Given the description of an element on the screen output the (x, y) to click on. 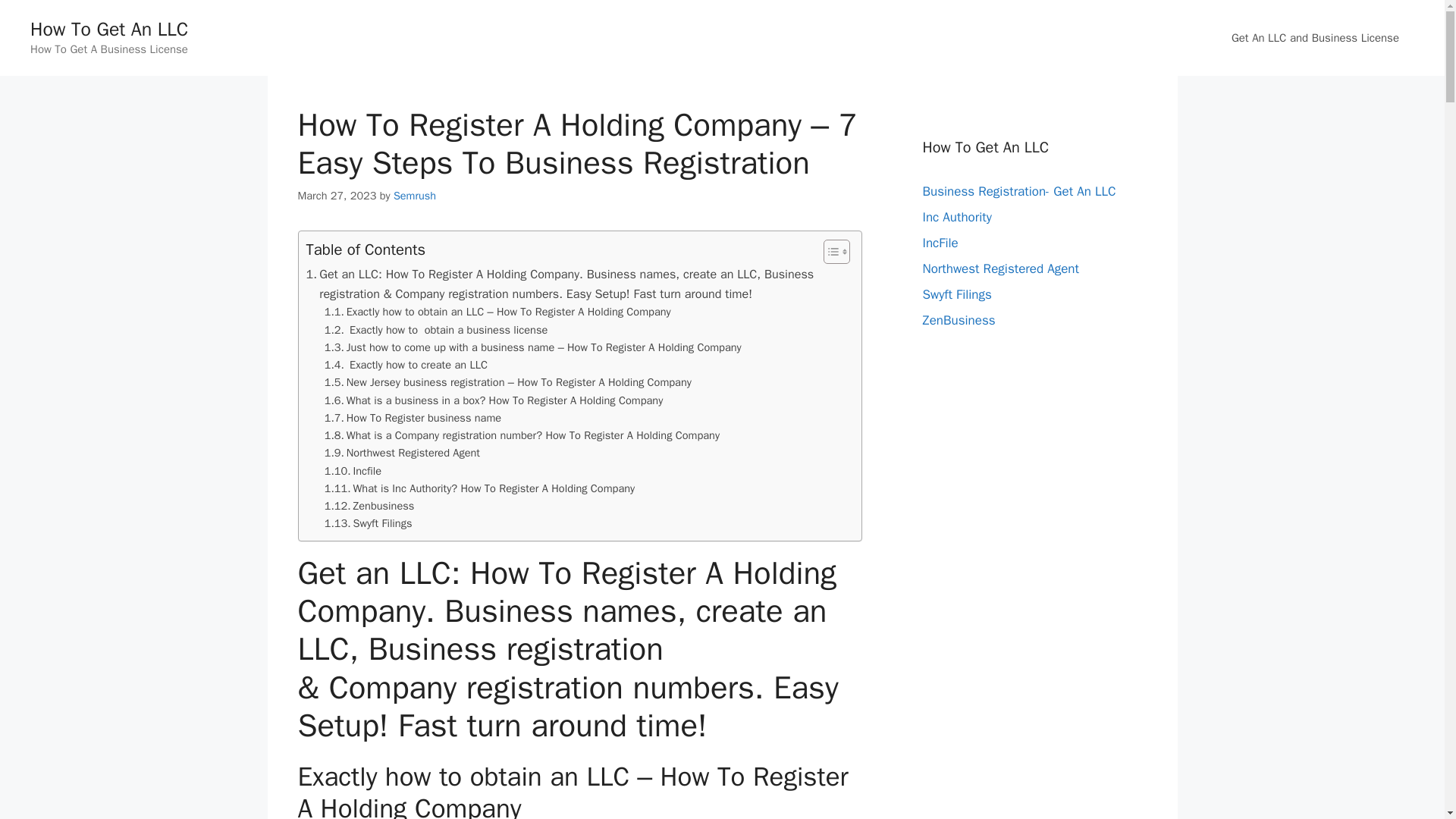
View all posts by Semrush (414, 195)
Incfile (352, 470)
What is Inc Authority? How To Register A Holding Company (479, 488)
Swyft Filings (368, 523)
Semrush (414, 195)
Get An LLC and Business License (1314, 37)
How To Get An LLC (108, 28)
